Given the description of an element on the screen output the (x, y) to click on. 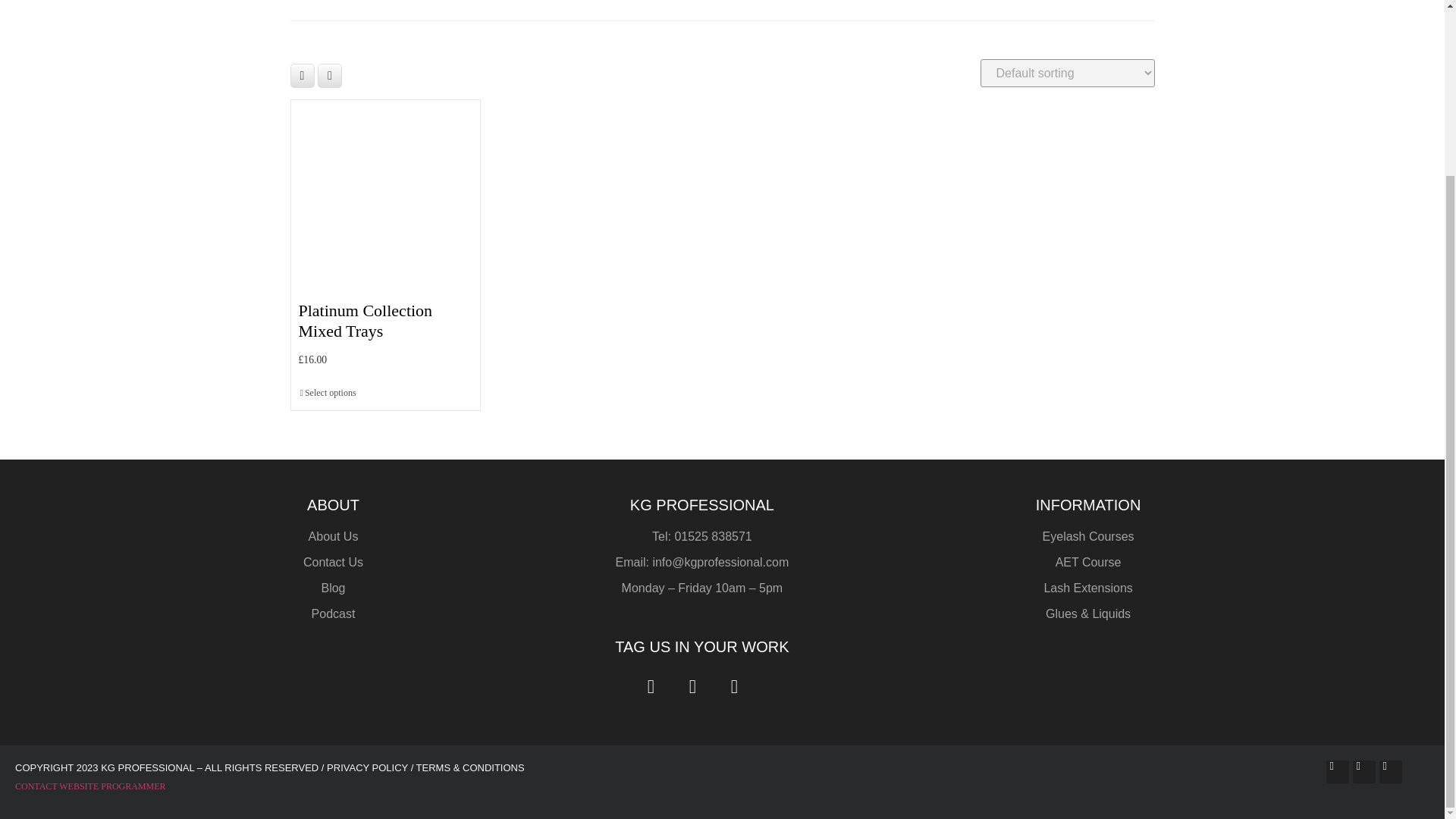
Minimum qty is 1 (328, 393)
